Given the description of an element on the screen output the (x, y) to click on. 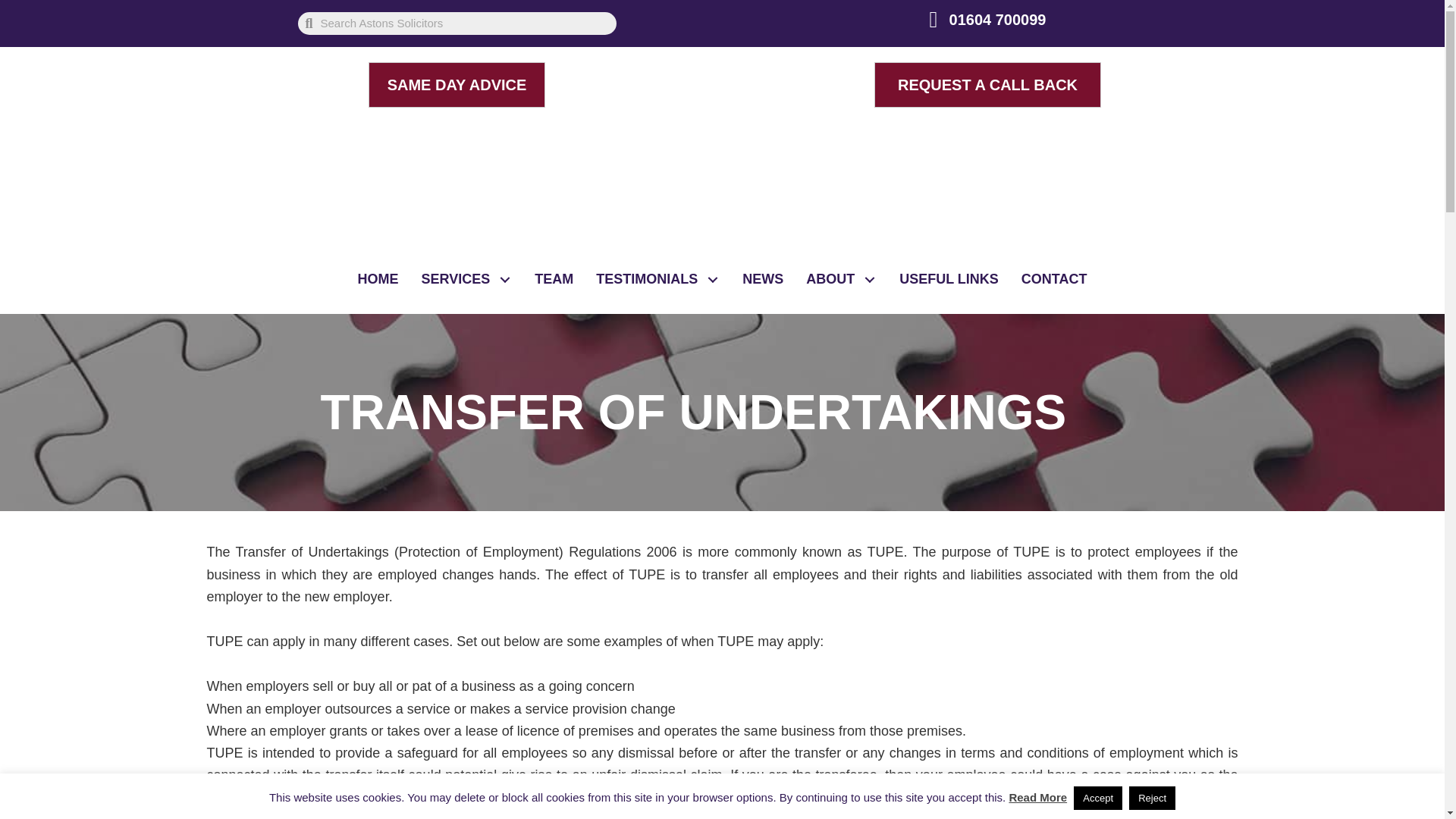
SERVICES (465, 279)
SAME DAY ADVICE (457, 84)
Search (464, 23)
TESTIMONIALS (657, 279)
USEFUL LINKS (949, 279)
ABOUT (841, 279)
CONTACT (1054, 279)
HOME (377, 279)
NEWS (762, 279)
01604 700099 (997, 19)
